Given the description of an element on the screen output the (x, y) to click on. 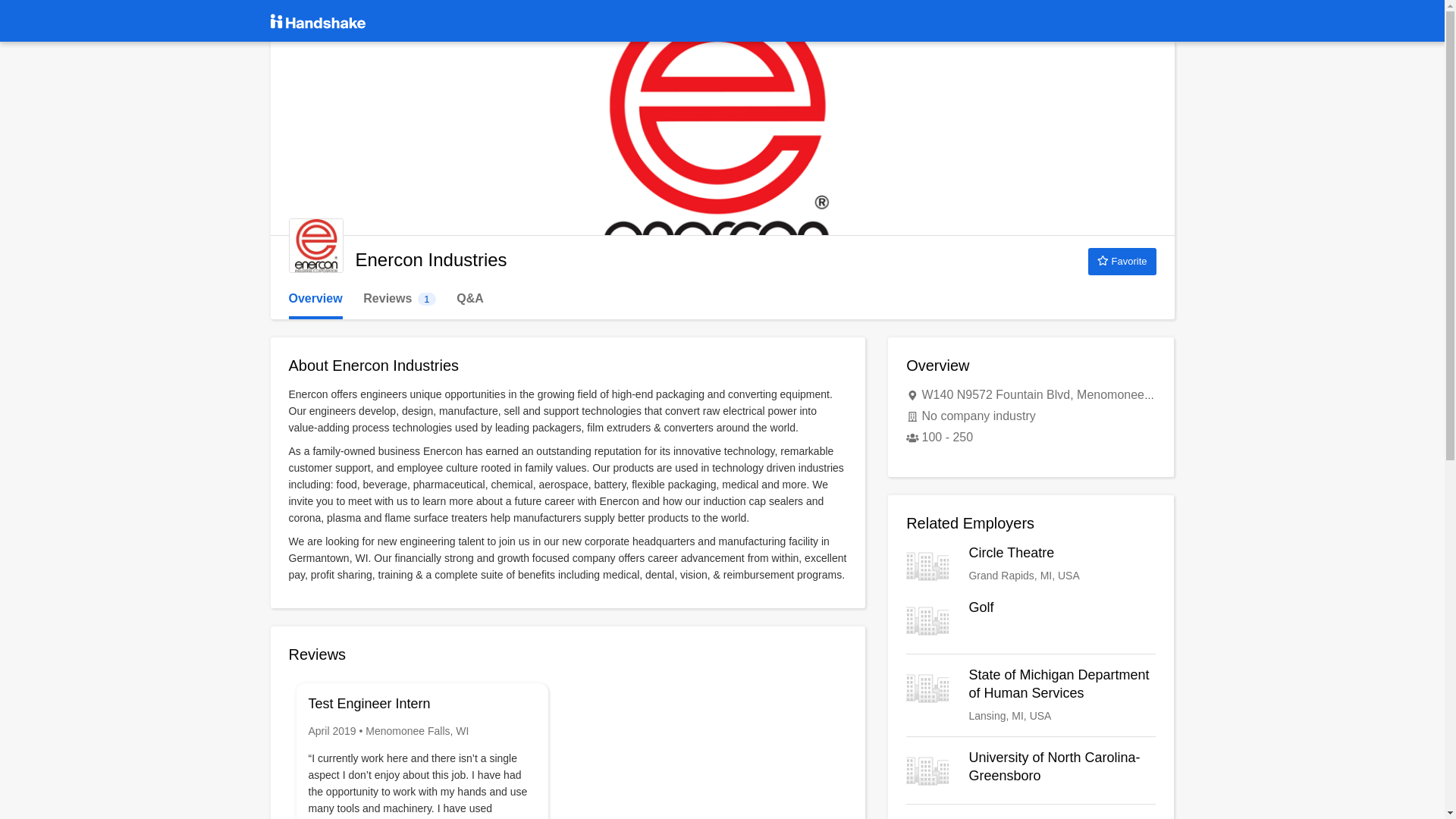
Circle Theatre (1030, 565)
Overview (1030, 565)
State of Michigan Department of Human Services (315, 298)
Favorite (1030, 694)
Golf (1121, 261)
Golf (1030, 619)
University of North Carolina-Greensboro (1030, 619)
University of North Carolina-Greensboro (1030, 770)
